Given the description of an element on the screen output the (x, y) to click on. 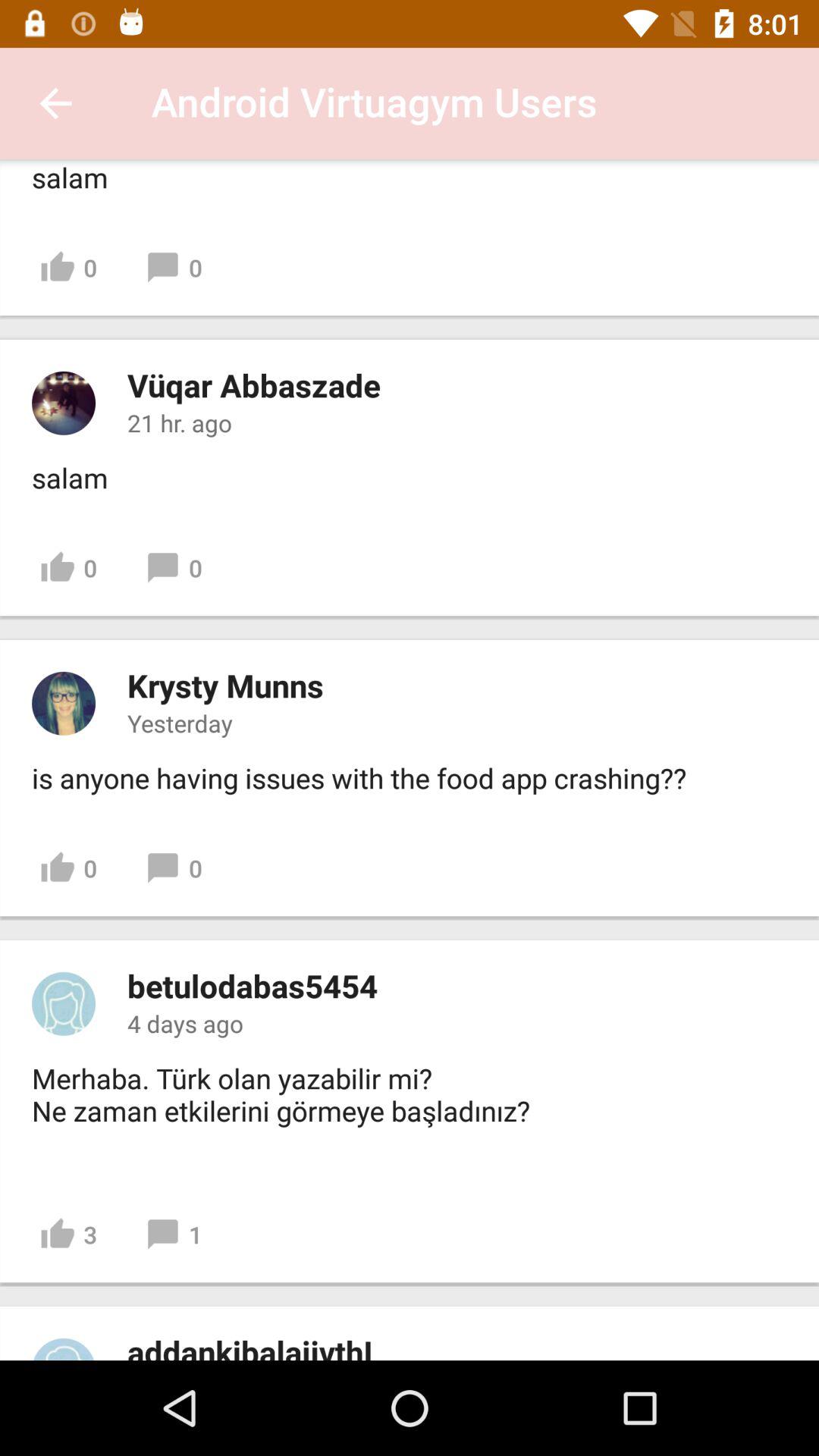
press the icon to the left of 1 icon (68, 1234)
